Given the description of an element on the screen output the (x, y) to click on. 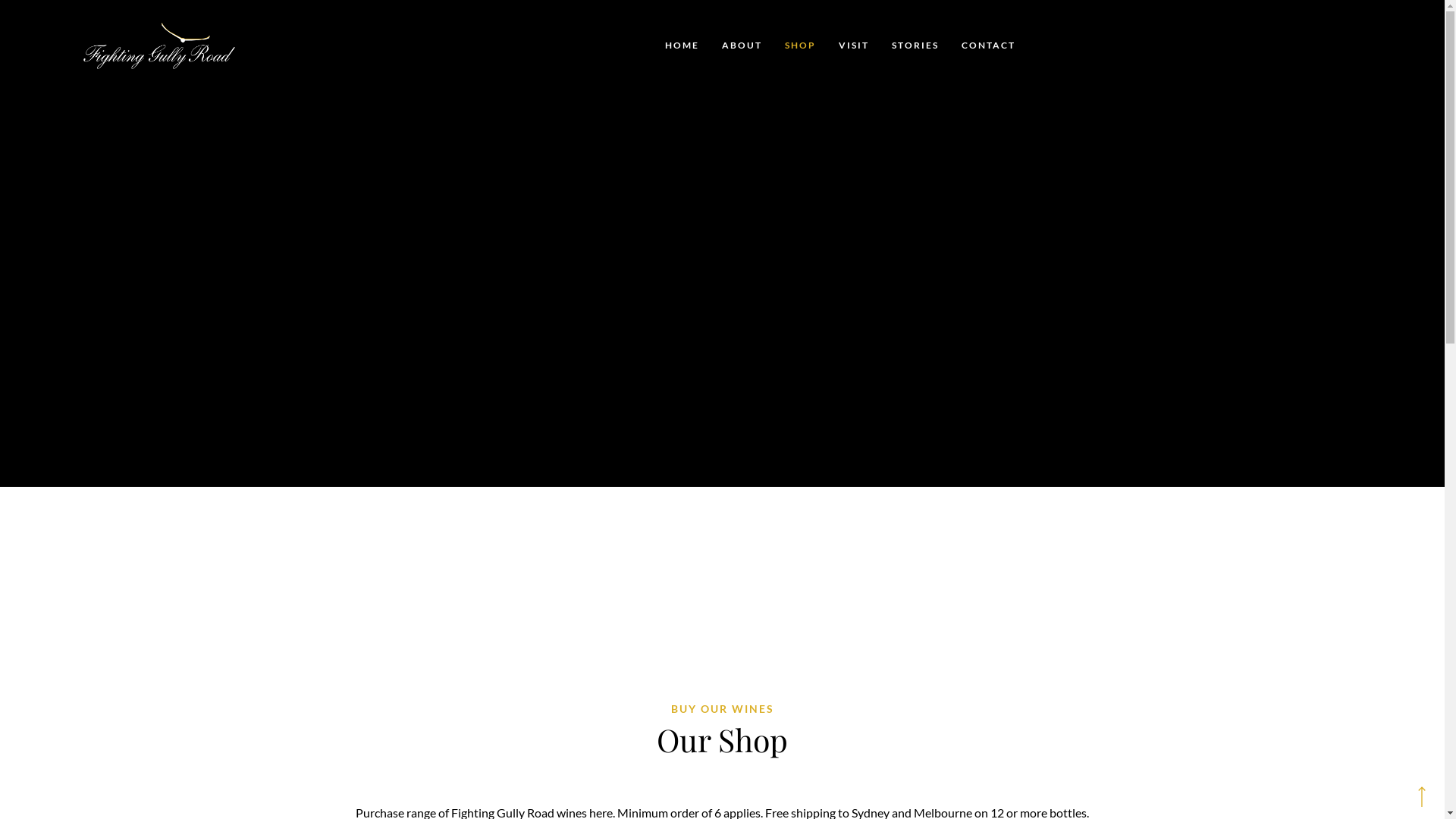
VISIT Element type: text (852, 45)
Fighting Gully Road Element type: hover (178, 45)
HOME Element type: text (681, 45)
ABOUT Element type: text (740, 45)
STORIES Element type: text (914, 45)
CONTACT Element type: text (987, 45)
SHOP Element type: text (800, 45)
